Given the description of an element on the screen output the (x, y) to click on. 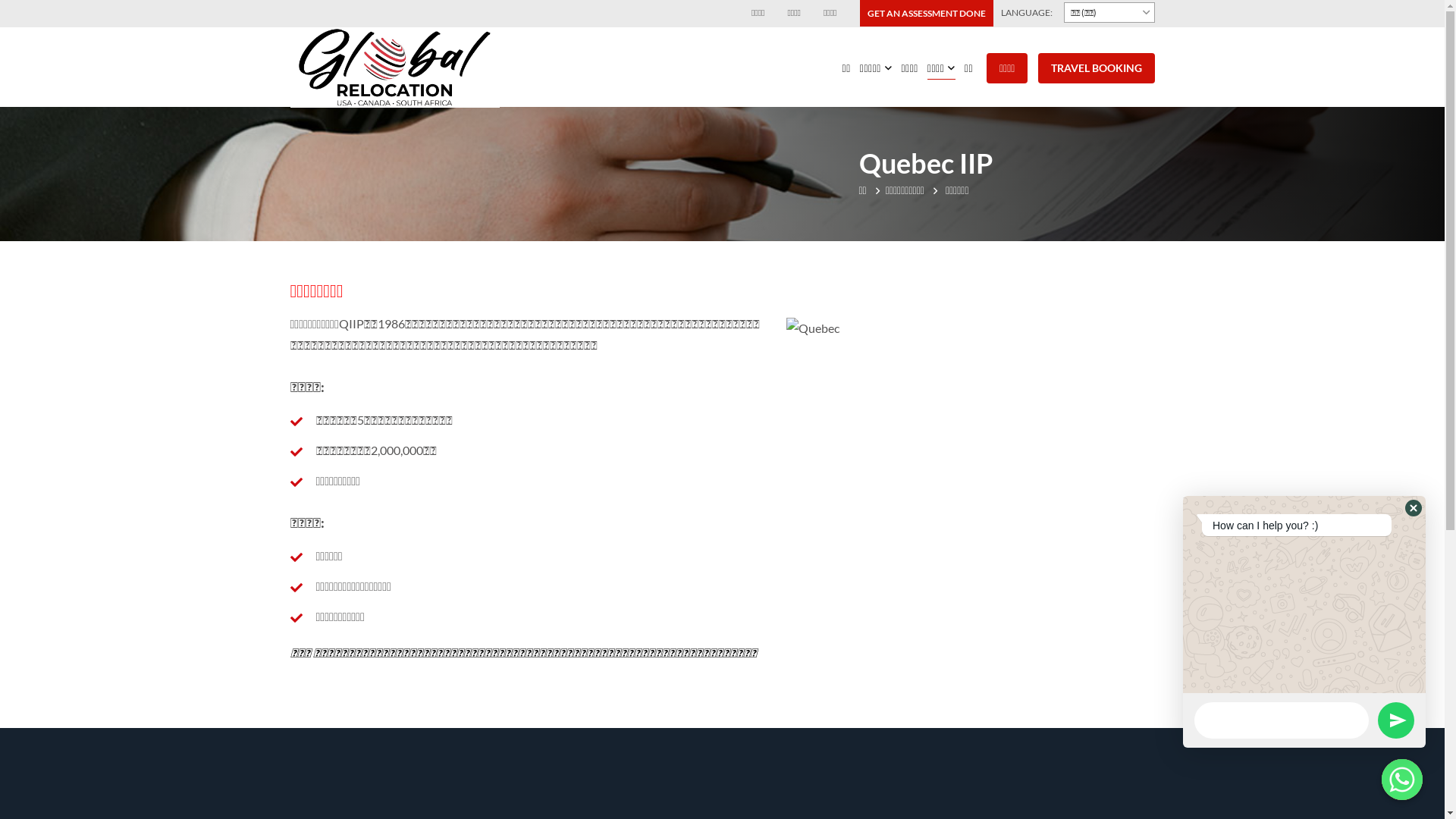
GET AN ASSESSMENT DONE Element type: text (926, 13)
TRAVEL BOOKING Element type: text (1095, 68)
